Given the description of an element on the screen output the (x, y) to click on. 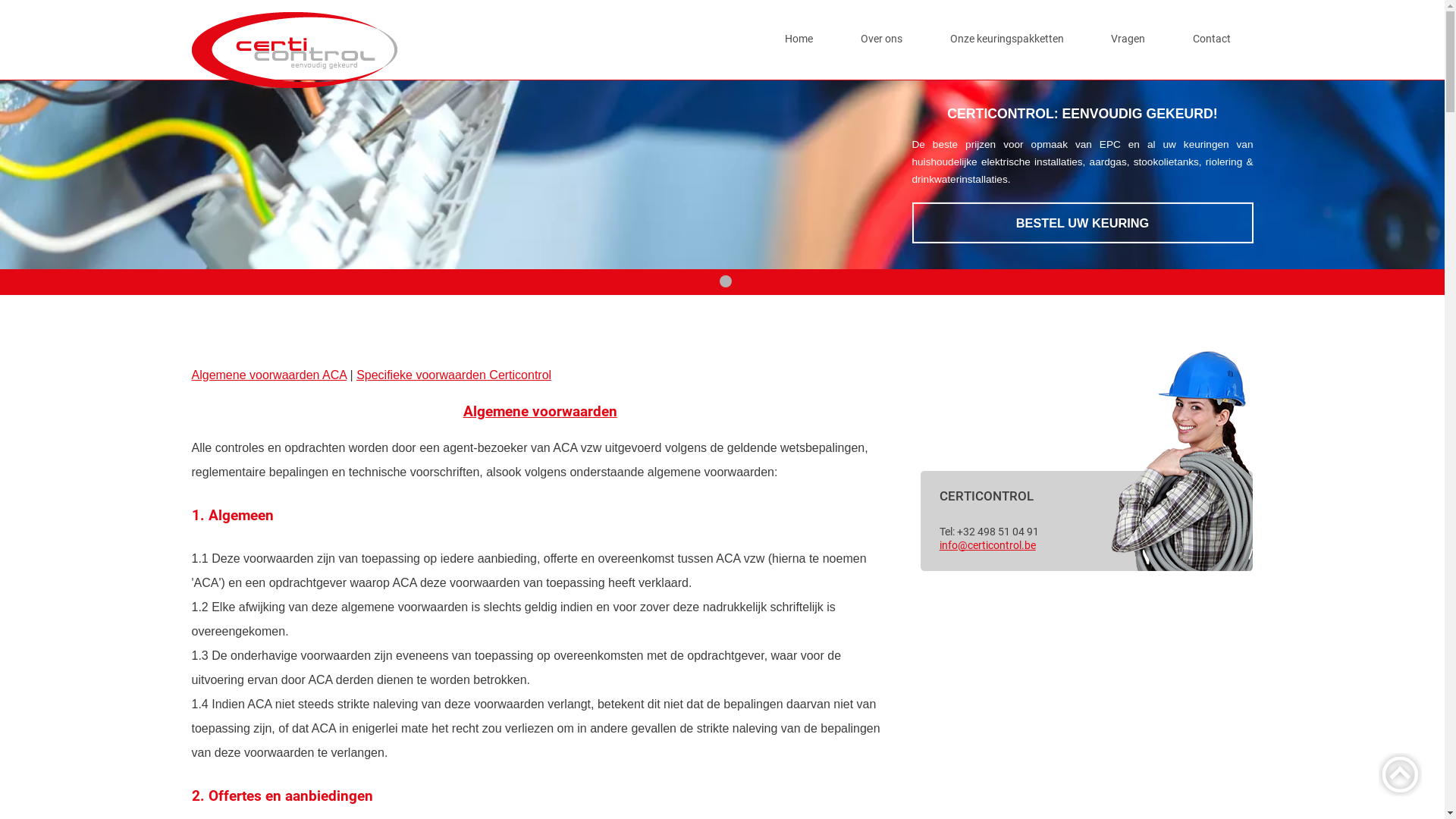
Home Element type: text (798, 39)
Over ons Element type: text (881, 39)
Vragen Element type: text (1127, 39)
info@certicontrol.be Element type: text (987, 545)
BESTEL UW KEURING Element type: text (1081, 222)
Algemene voorwaarden Element type: text (540, 411)
Contact Element type: text (1211, 39)
Specifieke voorwaarden Certicontrol Element type: text (453, 374)
Algemene voorwaarden ACA Element type: text (268, 374)
Onze keuringspakketten Element type: text (1006, 39)
